Given the description of an element on the screen output the (x, y) to click on. 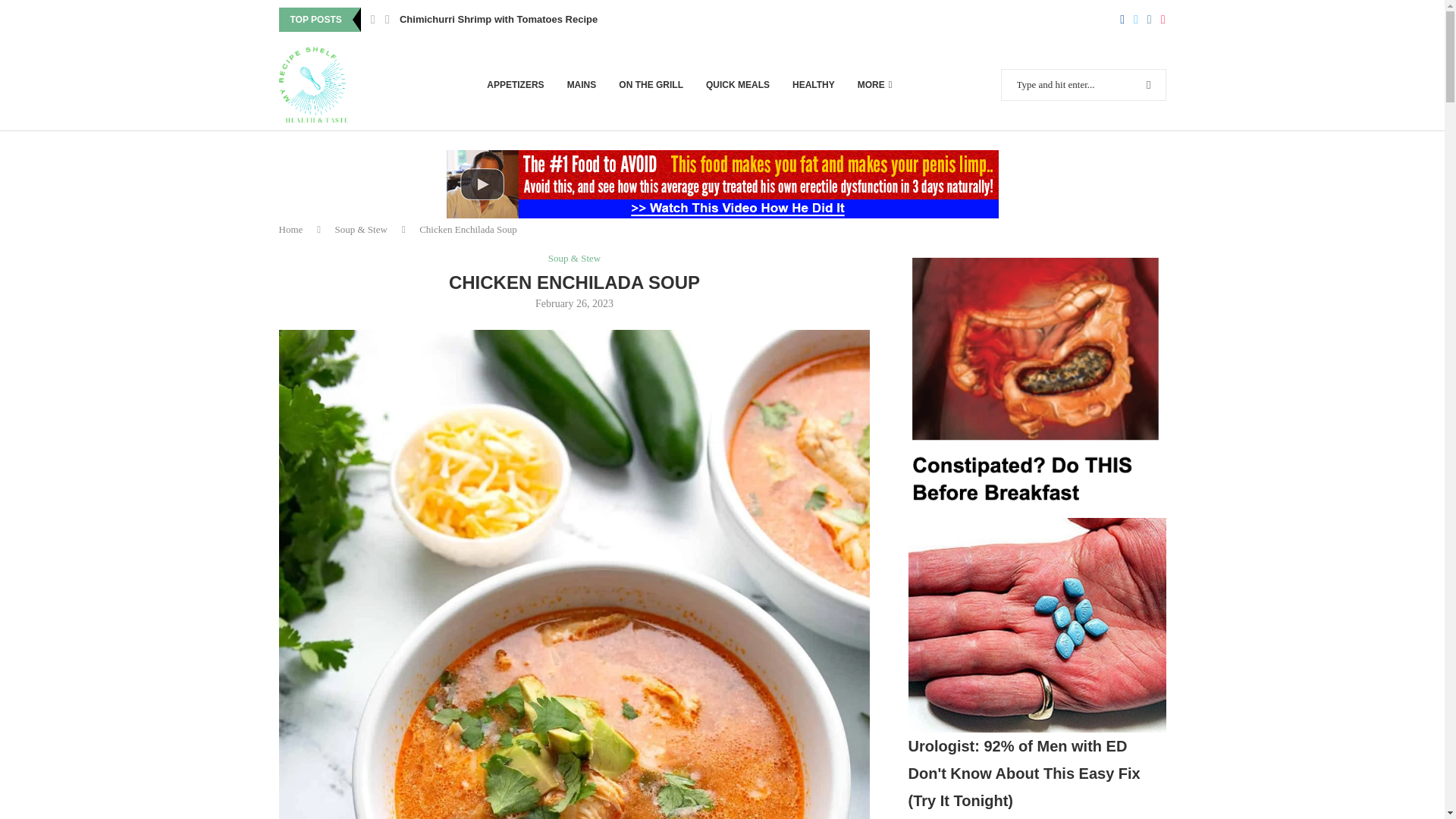
Chimichurri Shrimp with Tomatoes Recipe (497, 19)
Search (1117, 6)
